Given the description of an element on the screen output the (x, y) to click on. 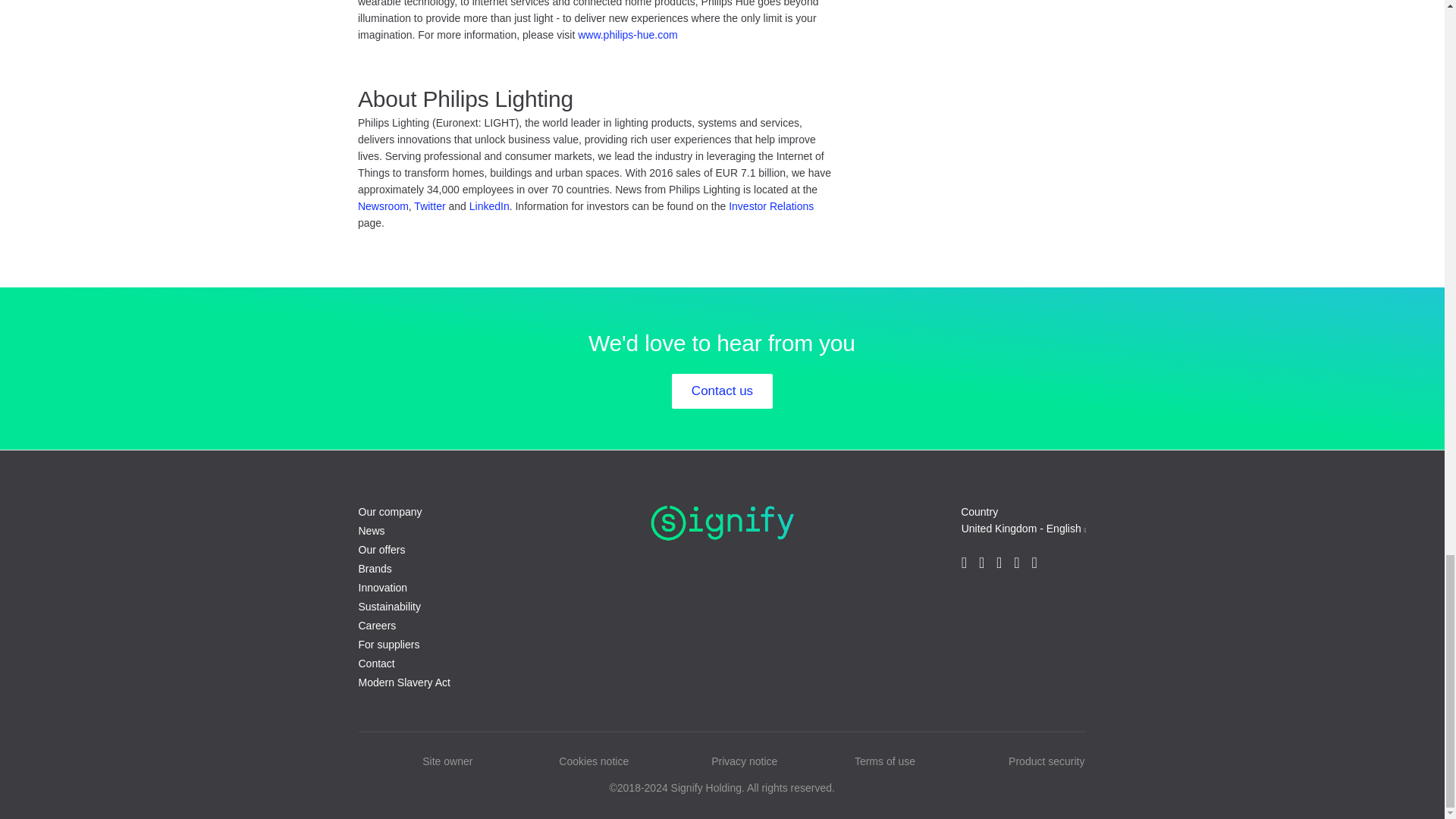
Contact us (722, 390)
www.philips-hue.com (628, 34)
Twitter (429, 205)
Newsroom (383, 205)
Investor Relations (771, 205)
LinkedIn (488, 205)
Contact us (722, 390)
